Given the description of an element on the screen output the (x, y) to click on. 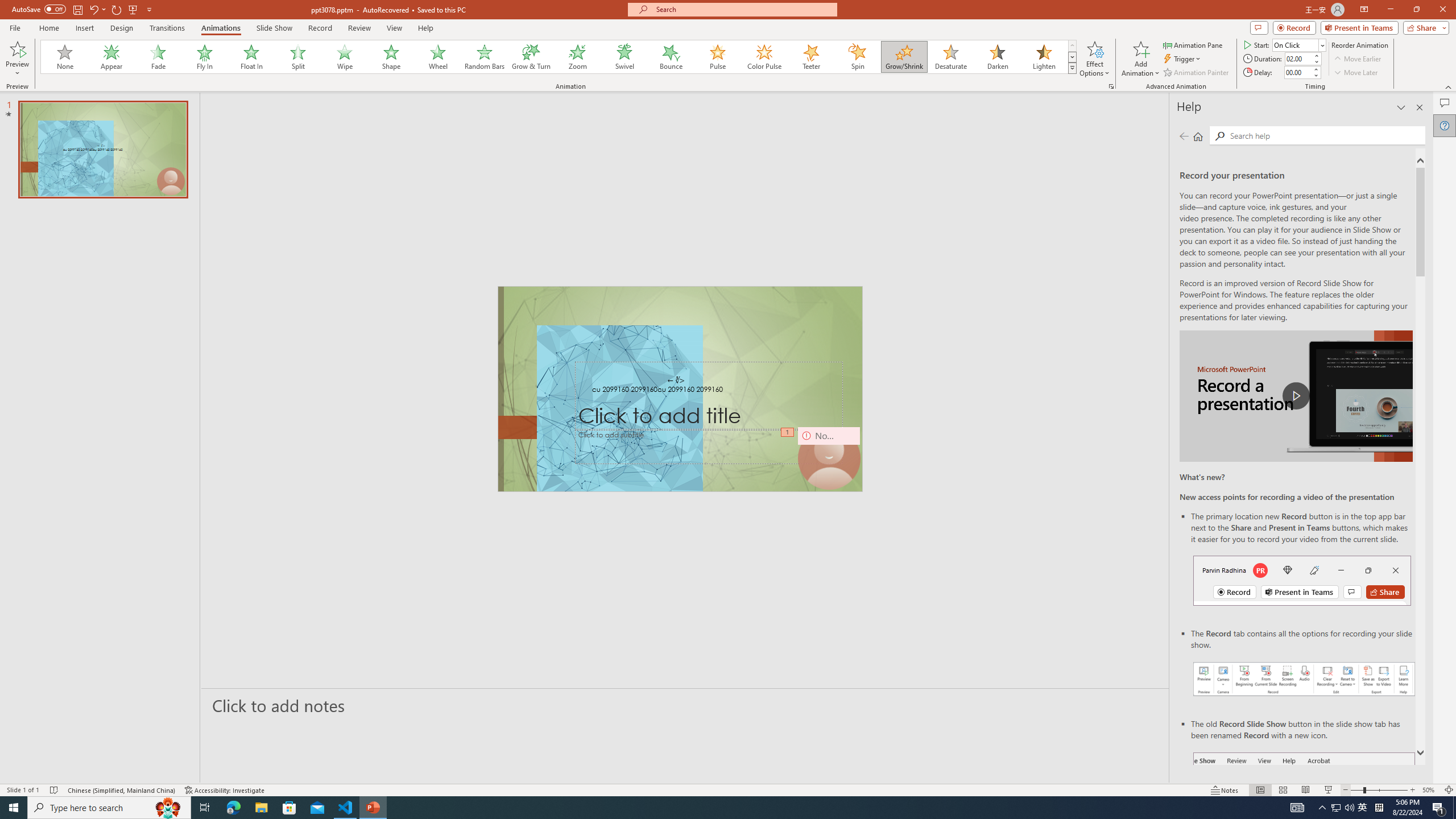
Swivel (624, 56)
Random Bars (484, 56)
Split (298, 56)
An abstract genetic concept (679, 388)
Teeter (810, 56)
Fly In (205, 56)
Color Pulse (764, 56)
Record button in top bar (1301, 580)
